Given the description of an element on the screen output the (x, y) to click on. 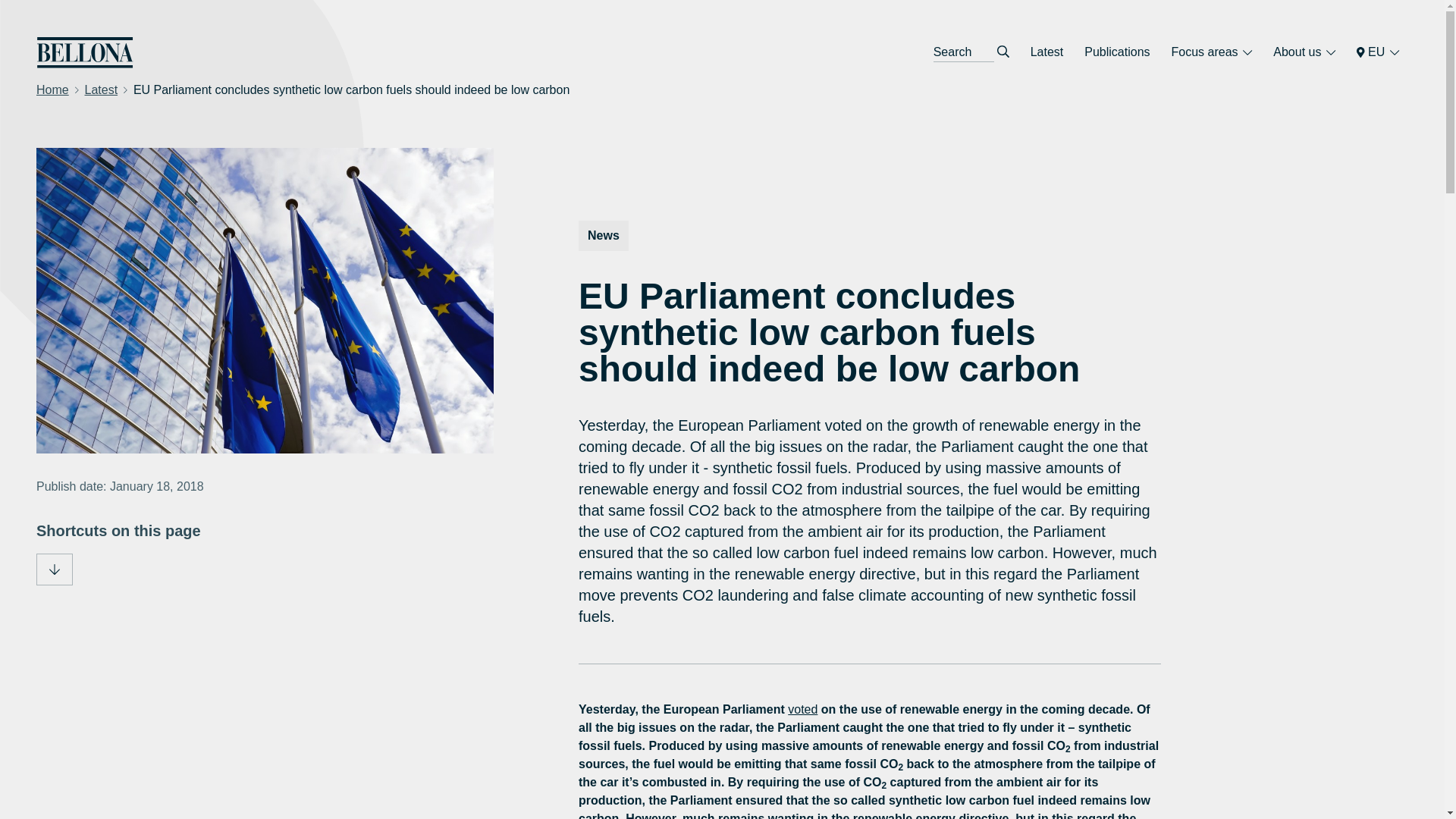
EU (1377, 51)
Latest (100, 90)
About us (1303, 51)
Focus areas (1211, 51)
Home (52, 90)
Latest (1047, 51)
Publications (1116, 51)
